Given the description of an element on the screen output the (x, y) to click on. 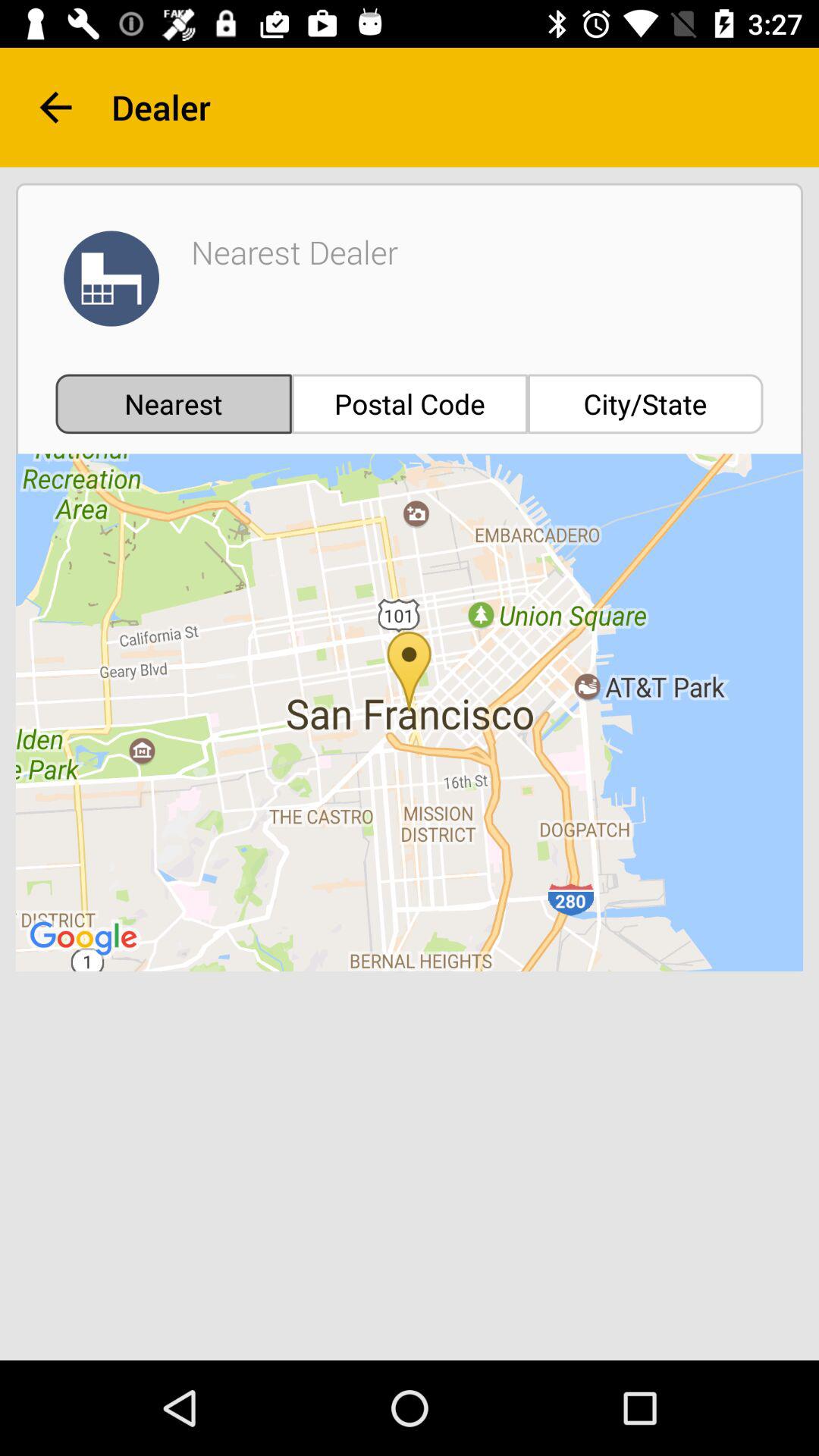
turn on item next to postal code item (645, 403)
